Given the description of an element on the screen output the (x, y) to click on. 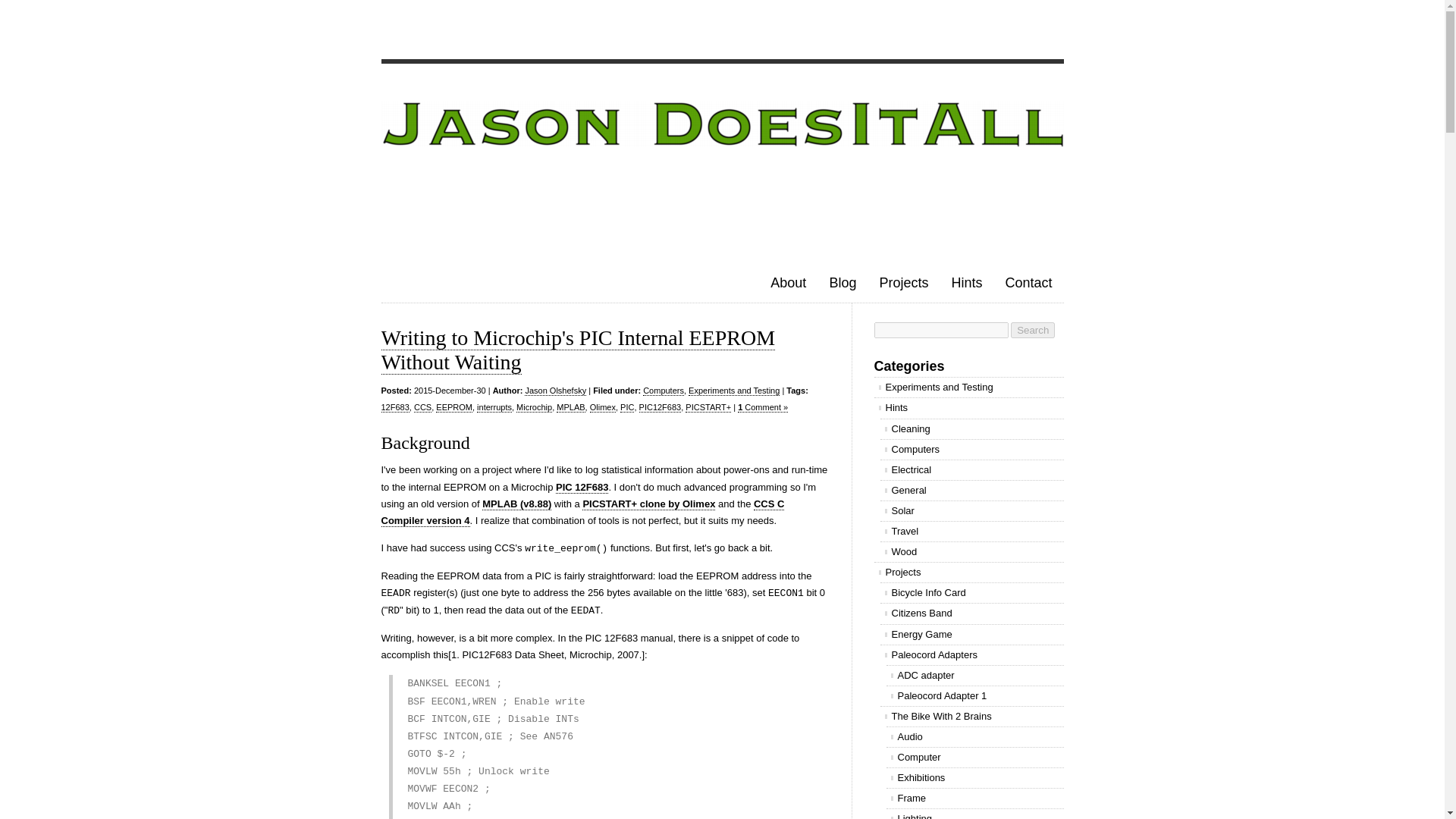
Hints (965, 282)
Projects (903, 282)
Blog (841, 282)
MPLAB (570, 407)
EEPROM (453, 407)
Search (1032, 330)
12F683 (394, 407)
Microchip (533, 407)
Olimex (602, 407)
Experiments and Testing (733, 390)
